Given the description of an element on the screen output the (x, y) to click on. 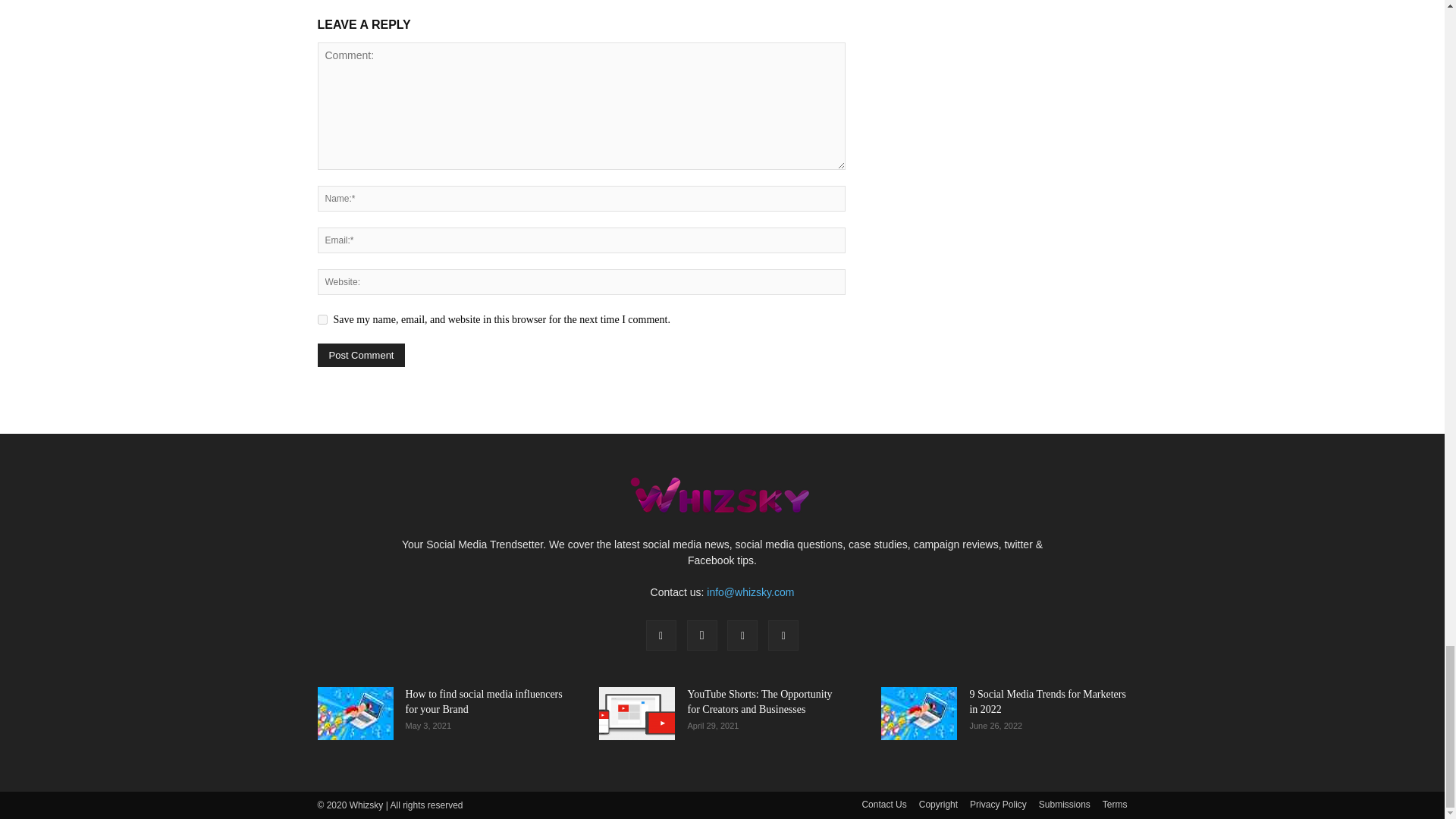
yes (321, 319)
Post Comment (360, 354)
